Given the description of an element on the screen output the (x, y) to click on. 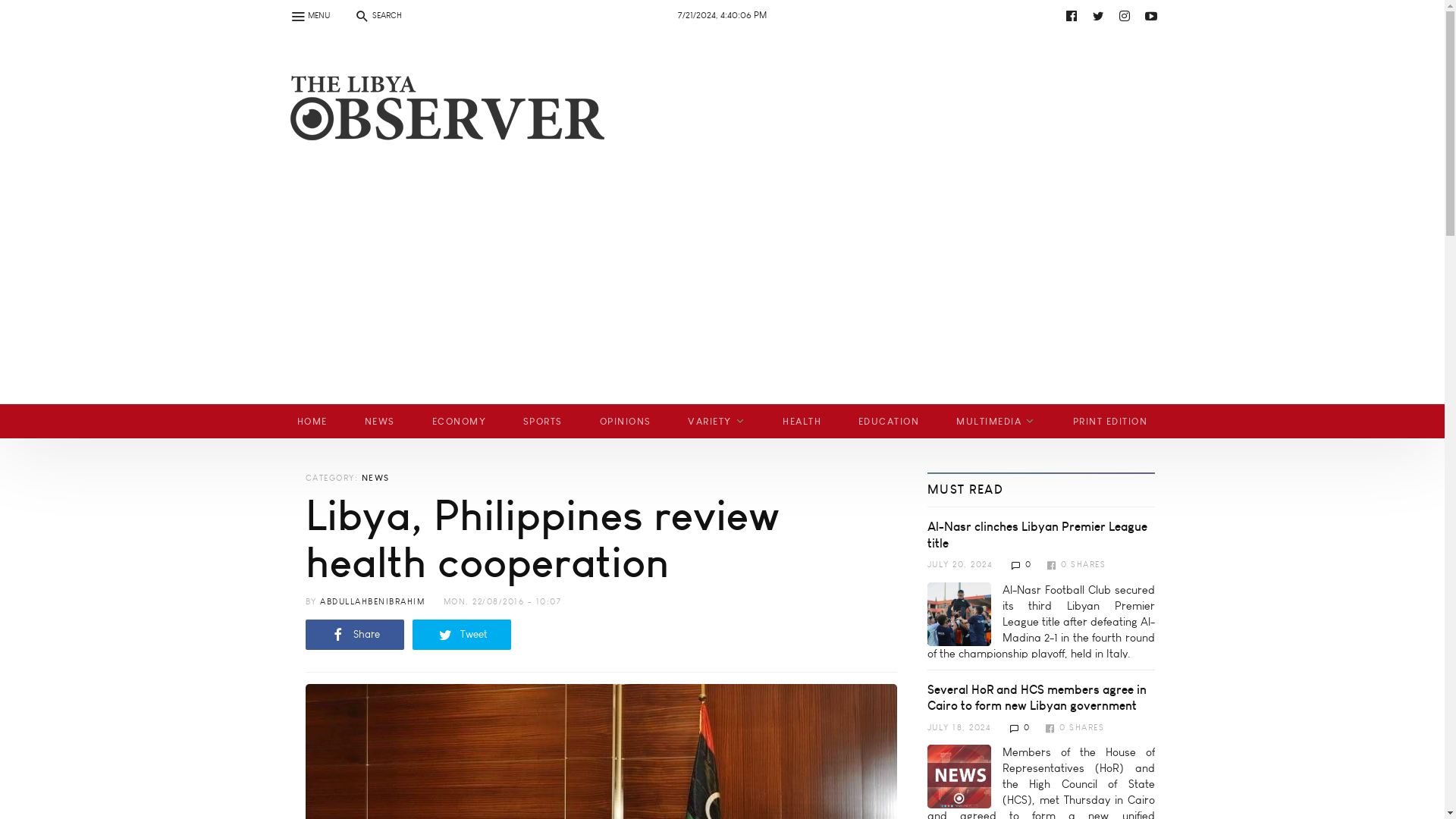
NEWS (379, 421)
EDUCATION (888, 421)
youtube (1150, 14)
HOME (312, 421)
youtube (736, 14)
instagram (1123, 14)
ECONOMY (458, 421)
Facebook (1070, 14)
twitter (1097, 14)
MULTIMEDIA (995, 421)
SPORTS (541, 421)
Search (20, 9)
OPINIONS (624, 421)
VARIETY (716, 421)
